Given the description of an element on the screen output the (x, y) to click on. 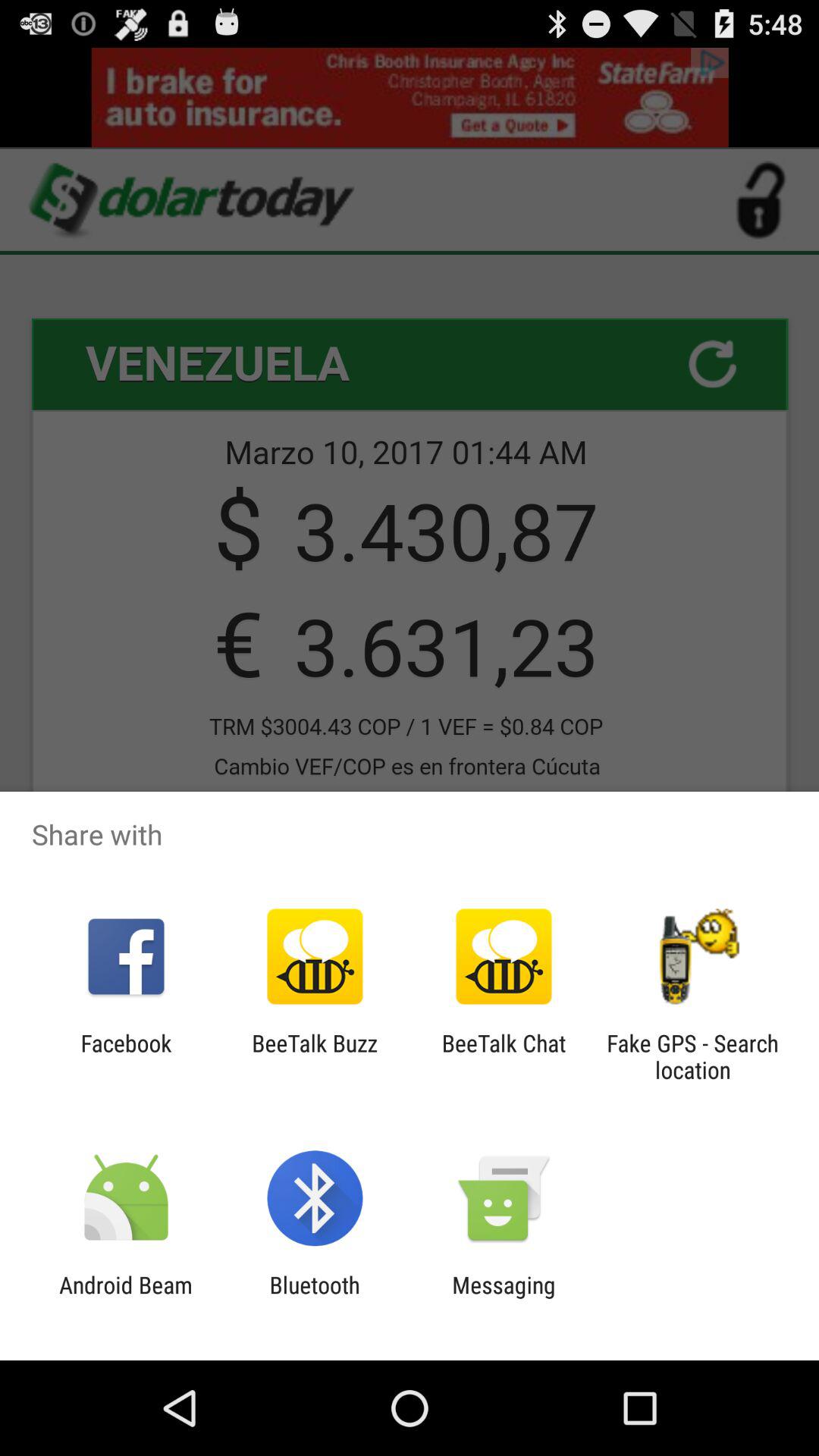
choose beetalk buzz (314, 1056)
